Given the description of an element on the screen output the (x, y) to click on. 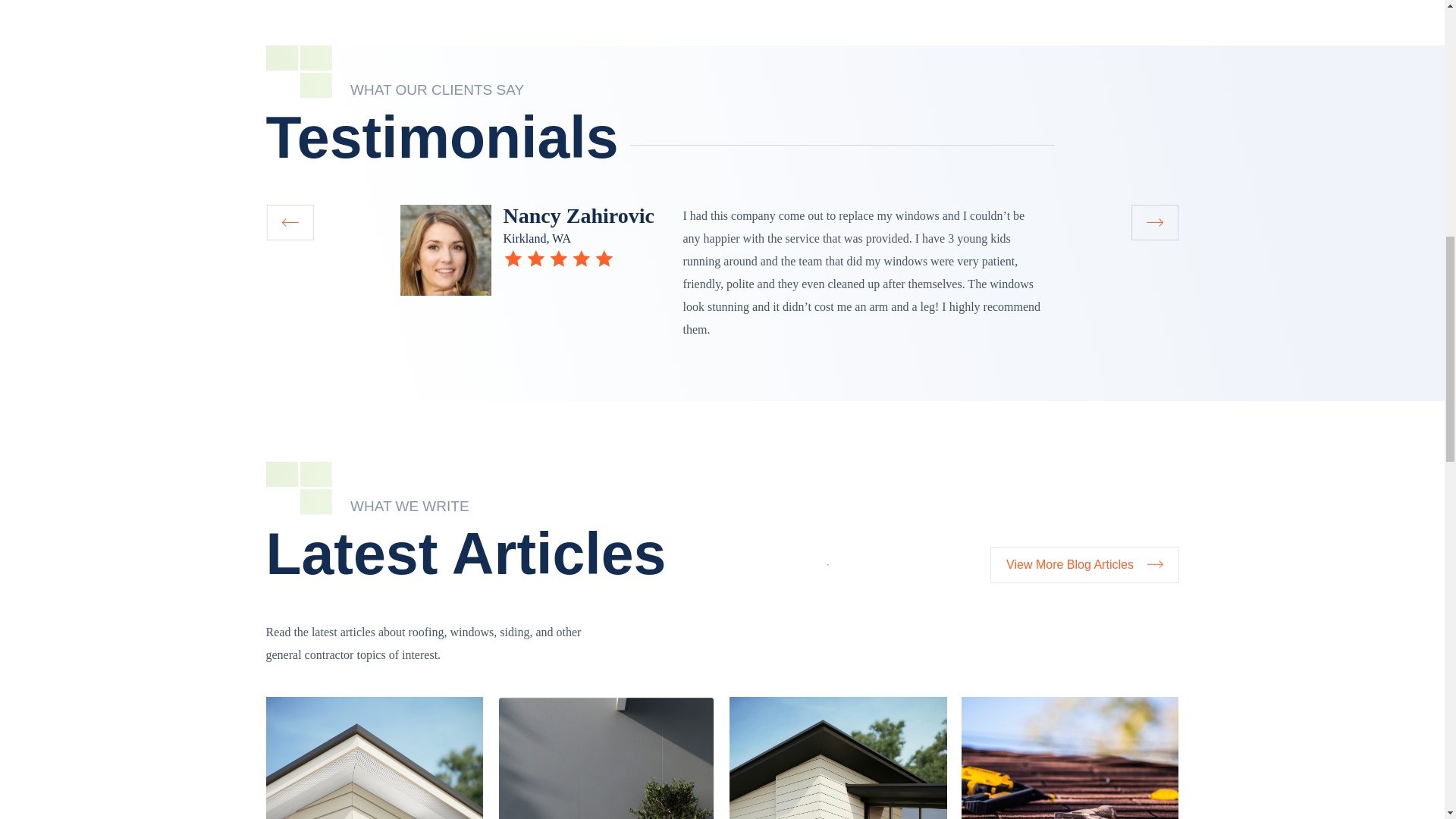
View More Blog Articles (1083, 565)
